Given the description of an element on the screen output the (x, y) to click on. 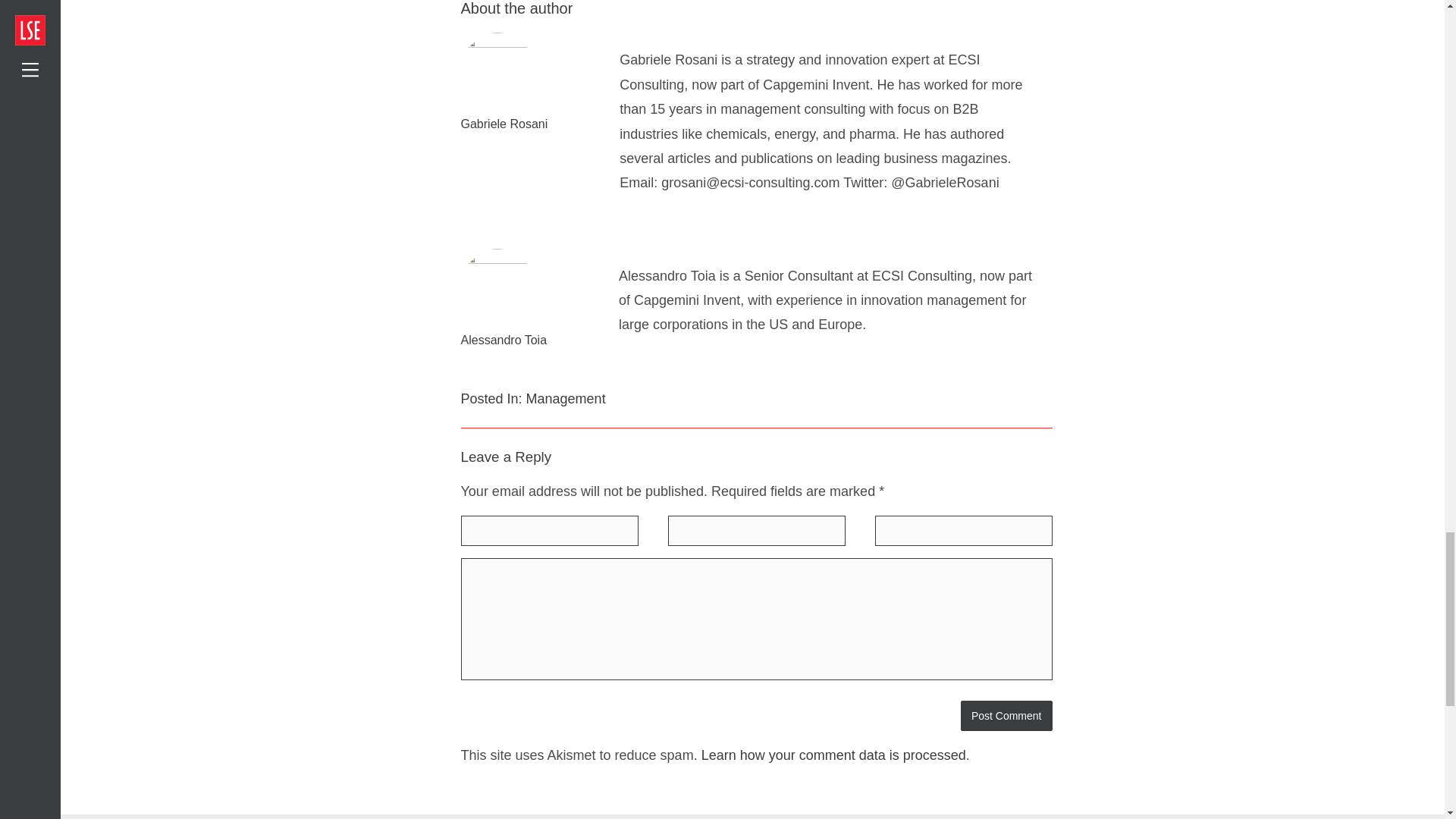
Post Comment (1006, 716)
Learn how your comment data is processed (833, 754)
Post Comment (1006, 716)
